Given the description of an element on the screen output the (x, y) to click on. 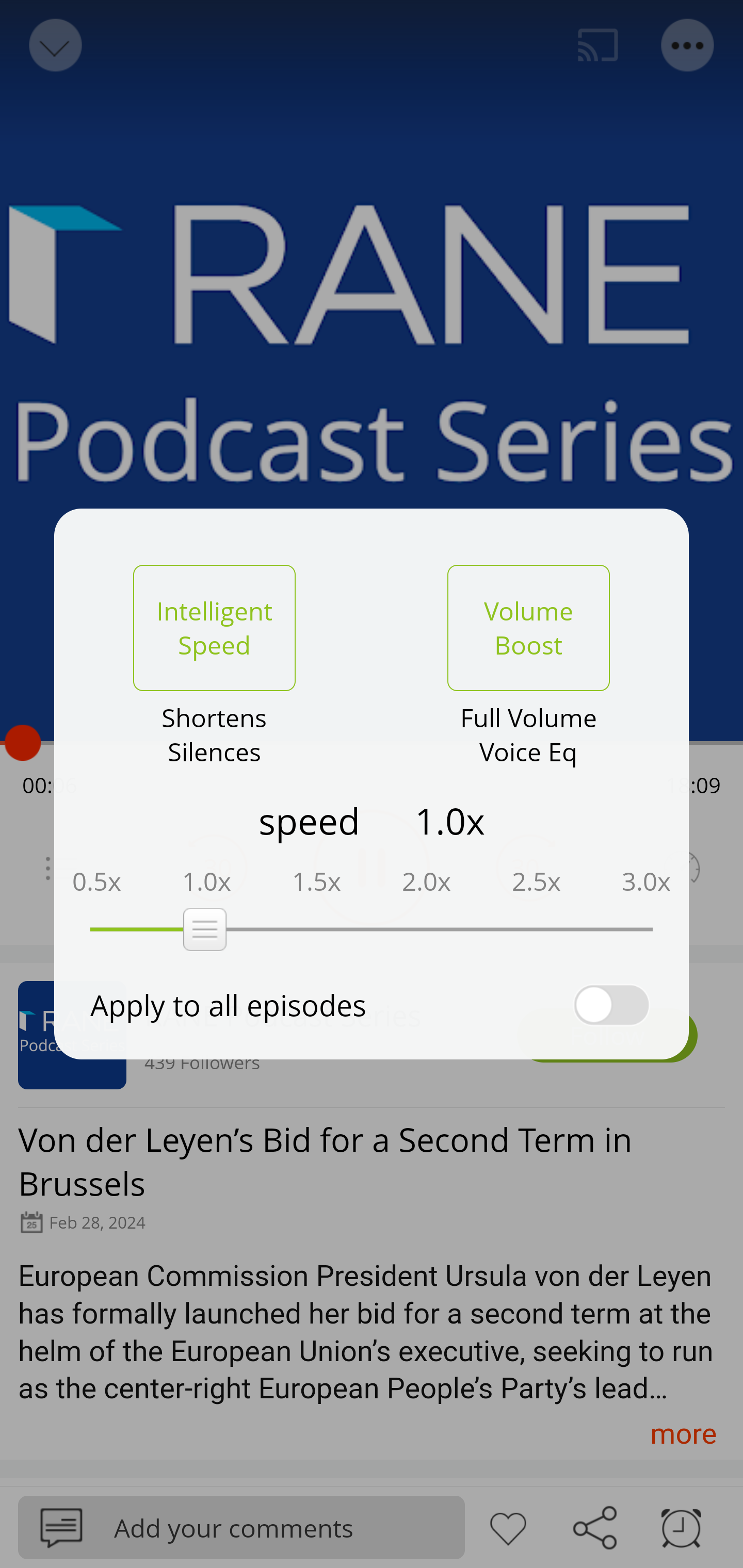
Intelligent
Speed (213, 627)
Volume
Boost (528, 627)
